Given the description of an element on the screen output the (x, y) to click on. 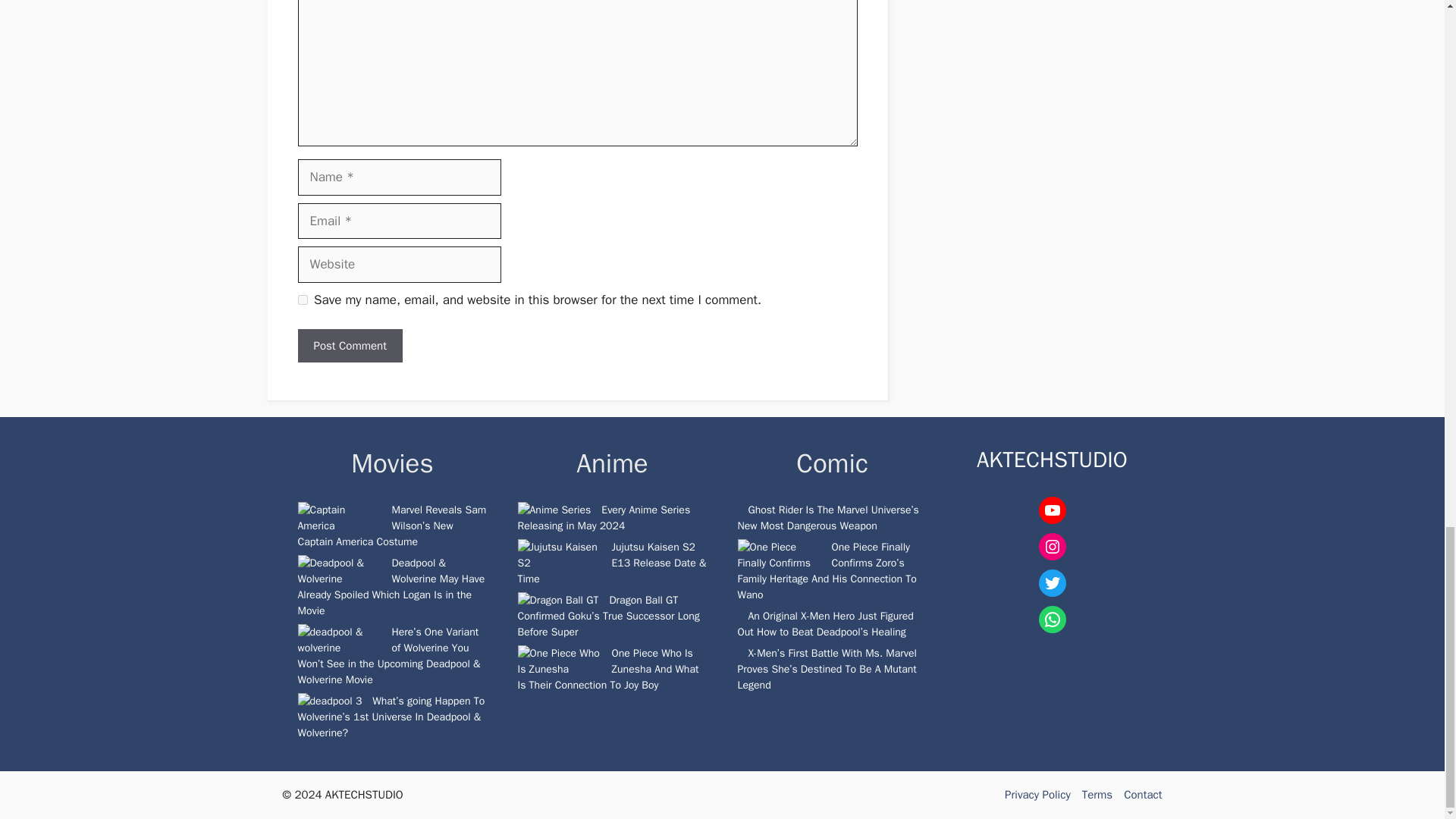
yes (302, 299)
Post Comment (349, 346)
Scroll back to top (1406, 32)
Post Comment (349, 346)
